Given the description of an element on the screen output the (x, y) to click on. 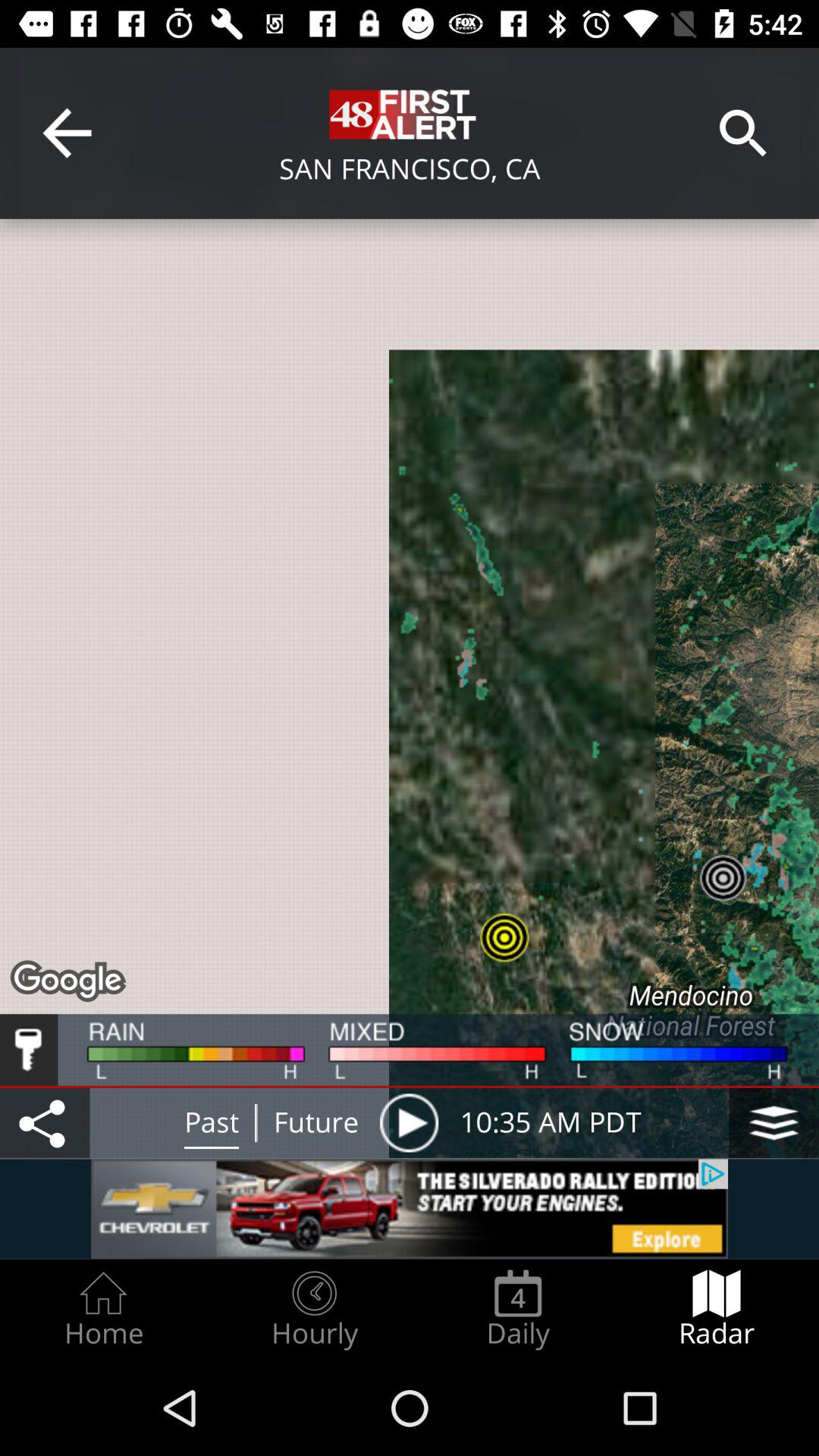
press the home (103, 1309)
